Given the description of an element on the screen output the (x, y) to click on. 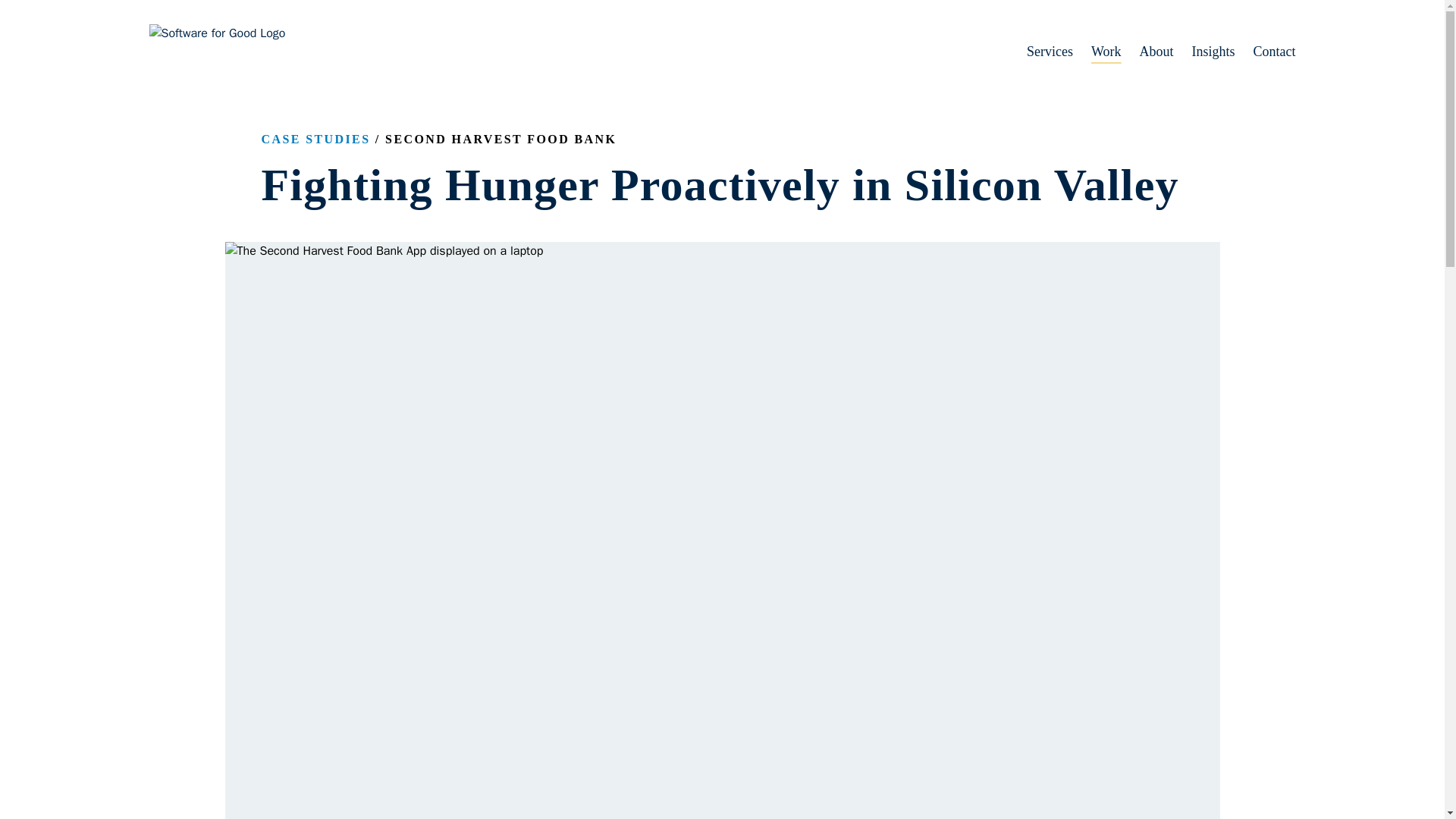
Work (1097, 51)
Contact (1264, 51)
Insights (1203, 51)
CASE STUDIES (314, 138)
Services (1041, 51)
About (1147, 51)
